Given the description of an element on the screen output the (x, y) to click on. 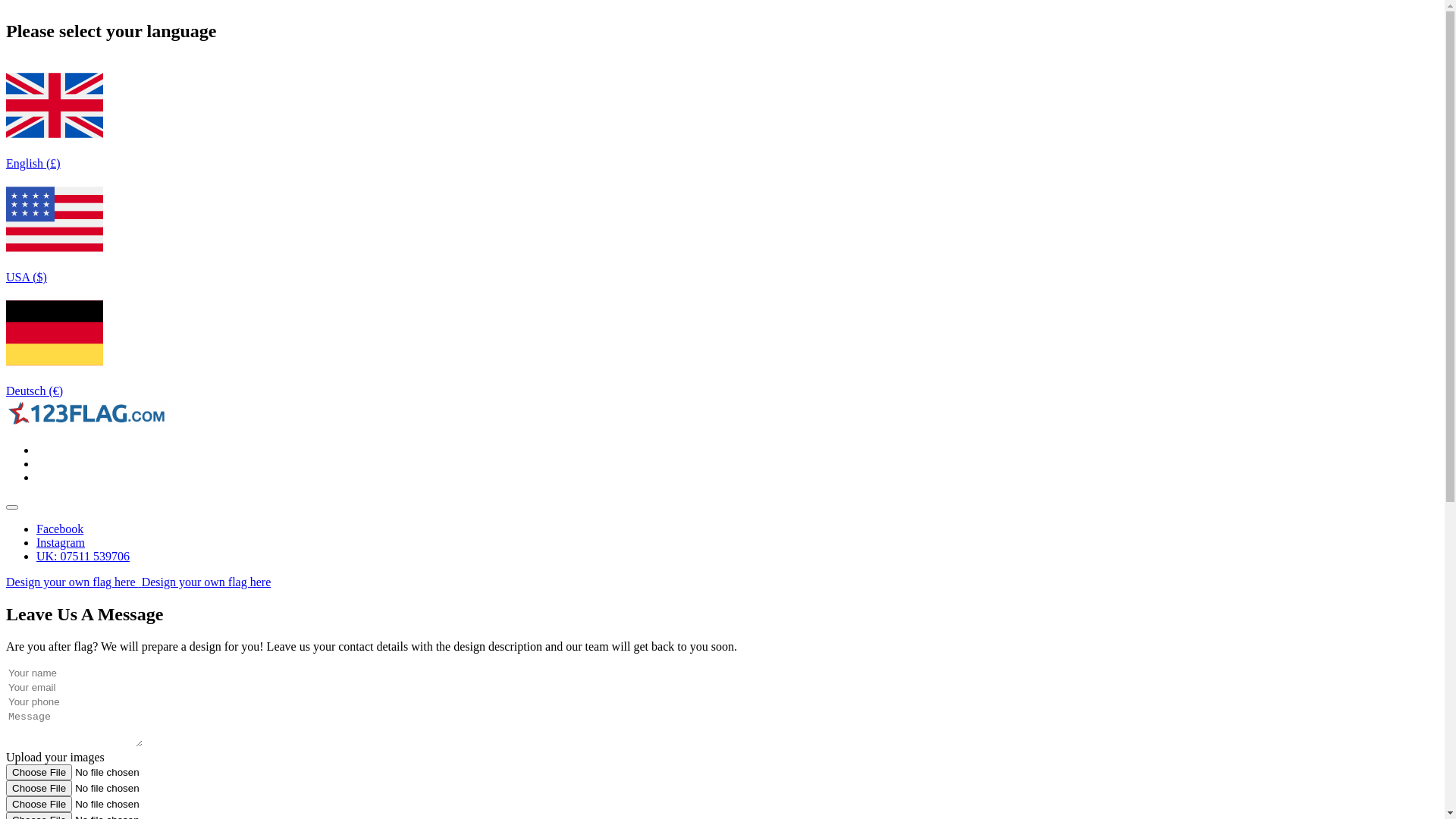
Facebook Element type: text (59, 528)
USA ($) Element type: text (54, 270)
Instagram Element type: text (60, 542)
UK: 07511 539706 Element type: text (82, 555)
Design your own flag here Element type: text (206, 581)
Design your own flag here Element type: text (72, 581)
